Given the description of an element on the screen output the (x, y) to click on. 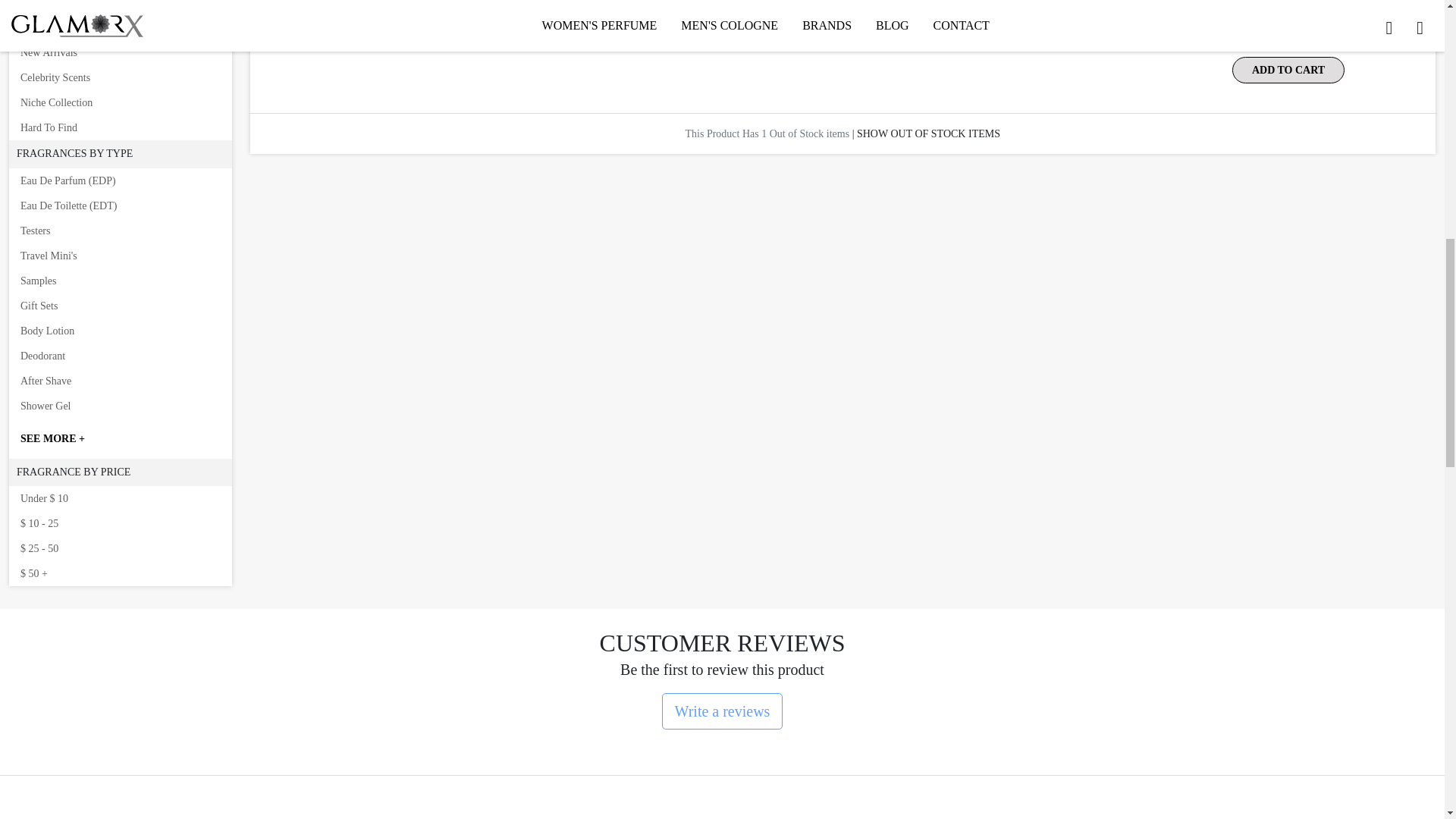
Best Sellers (119, 27)
Hard To Find (119, 127)
Gift Sets (119, 305)
Celebrity Scents (119, 77)
Testers (119, 230)
Niche Collection (119, 102)
New Arrivals (119, 52)
Body Lotion (119, 330)
After Shave (119, 380)
Samples (119, 280)
Travel Mini's (119, 255)
Deodorant (119, 355)
Shower Gel (119, 405)
